Given the description of an element on the screen output the (x, y) to click on. 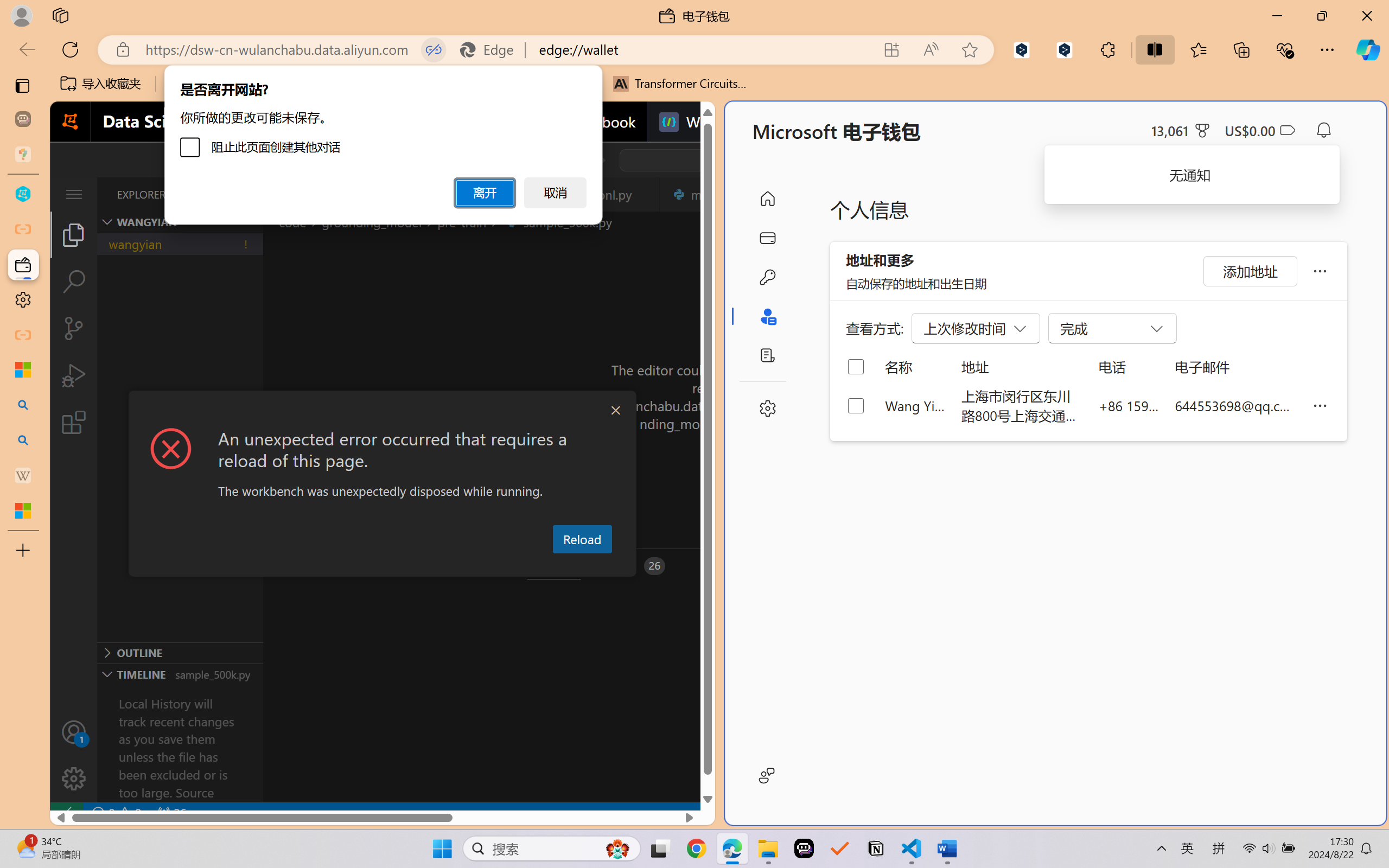
Problems (Ctrl+Shift+M) (308, 565)
Microsoft security help and learning (22, 369)
644553698@qq.com (1235, 405)
Copilot (Ctrl+Shift+.) (1368, 49)
